Given the description of an element on the screen output the (x, y) to click on. 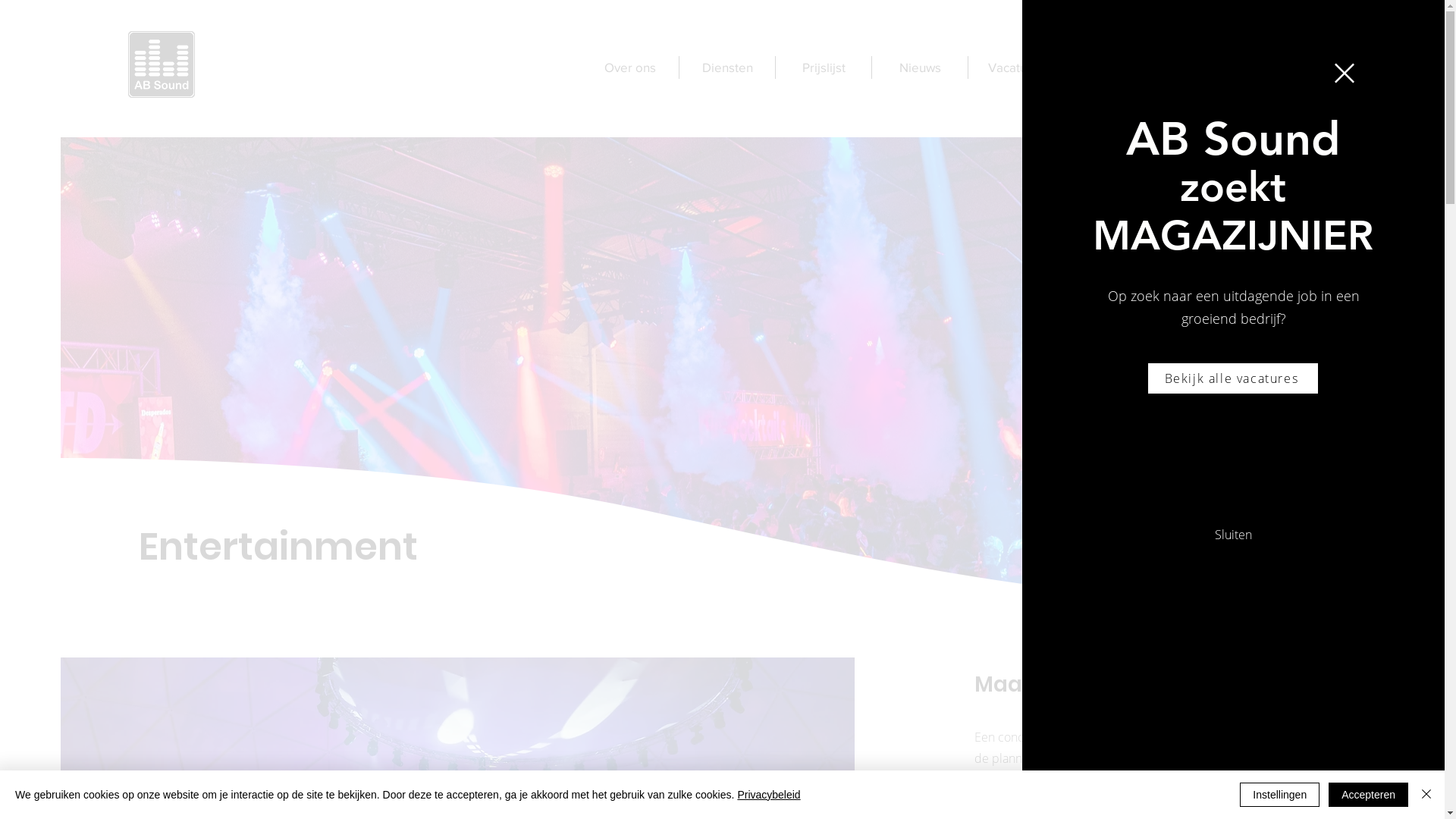
Bekijk alle vacatures Element type: text (1232, 378)
Vacatures Element type: text (1015, 67)
Over ons Element type: text (629, 67)
Instellingen Element type: text (1279, 794)
Accepteren Element type: text (1368, 794)
Privacybeleid Element type: text (768, 794)
Terug naar de website Element type: hover (1344, 72)
Prijslijst Element type: text (823, 67)
Nieuws Element type: text (919, 67)
Contact Element type: text (1112, 67)
